Given the description of an element on the screen output the (x, y) to click on. 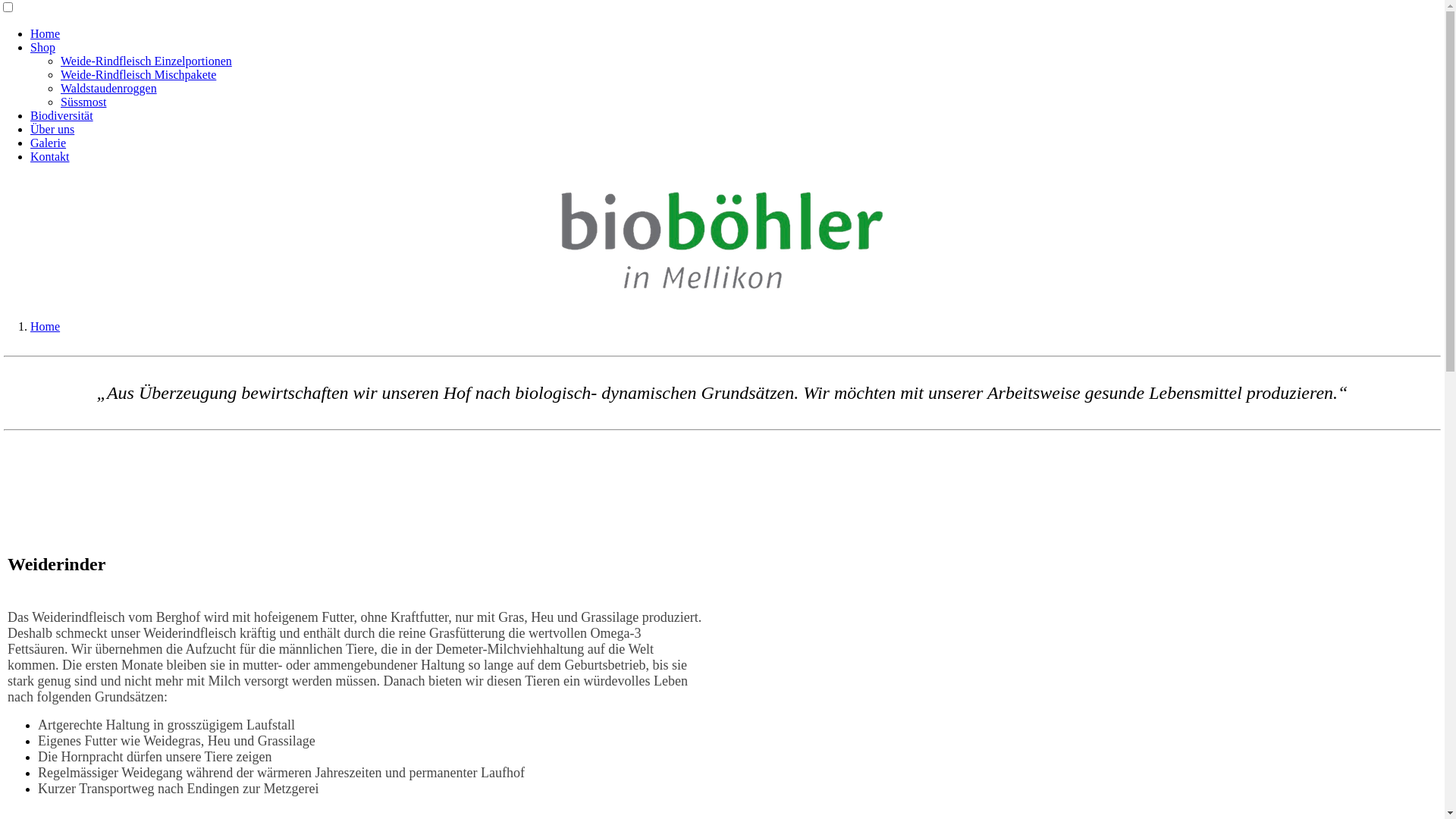
Home Element type: text (44, 33)
Weide-Rindfleisch Mischpakete Element type: text (138, 74)
Kontakt Element type: text (49, 156)
Shop Element type: text (42, 46)
Weide-Rindfleisch Einzelportionen Element type: text (146, 60)
Home Element type: text (44, 326)
Galerie Element type: text (47, 142)
Waldstaudenroggen Element type: text (108, 87)
